Given the description of an element on the screen output the (x, y) to click on. 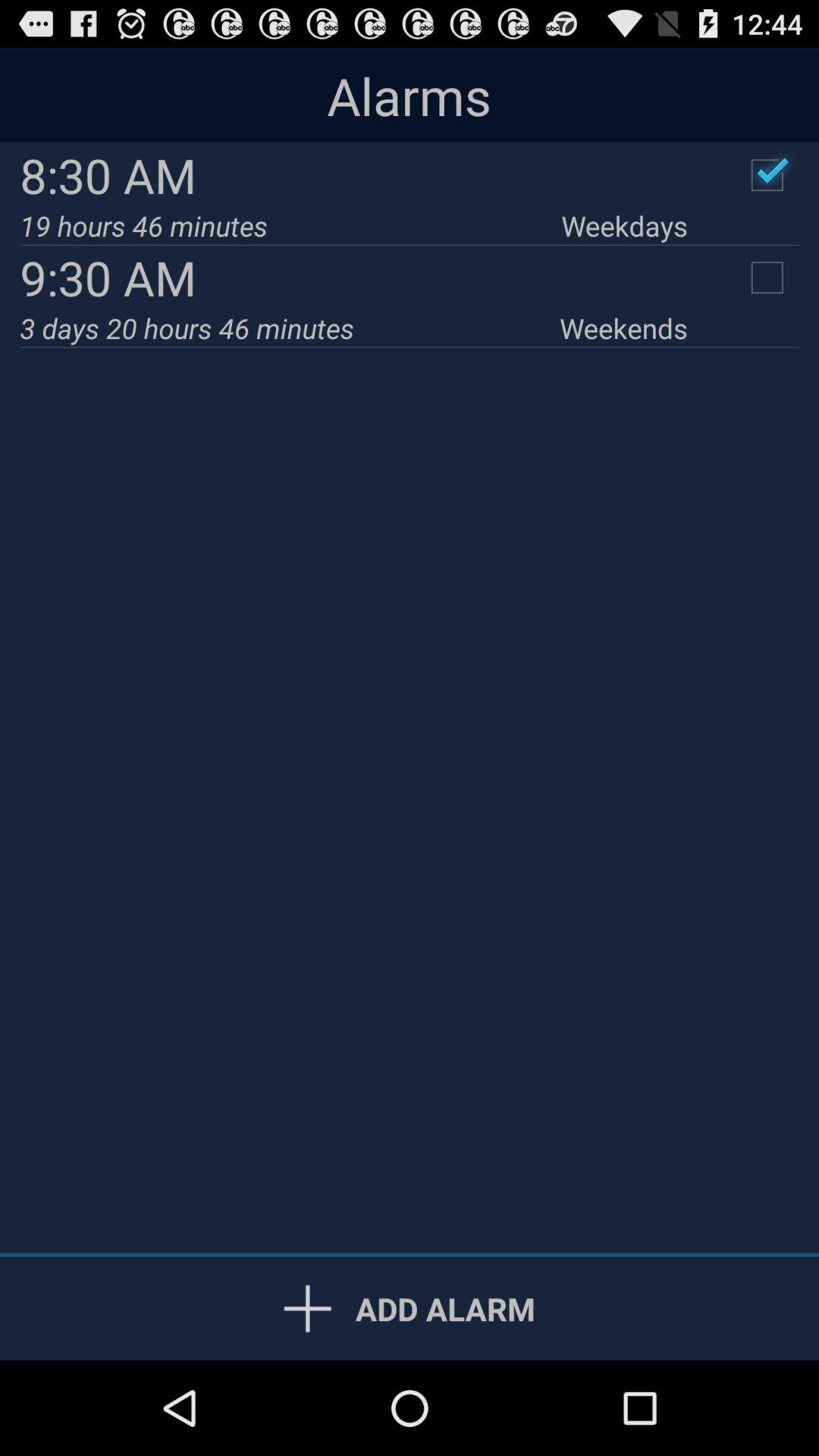
complete the alarm (767, 175)
